Given the description of an element on the screen output the (x, y) to click on. 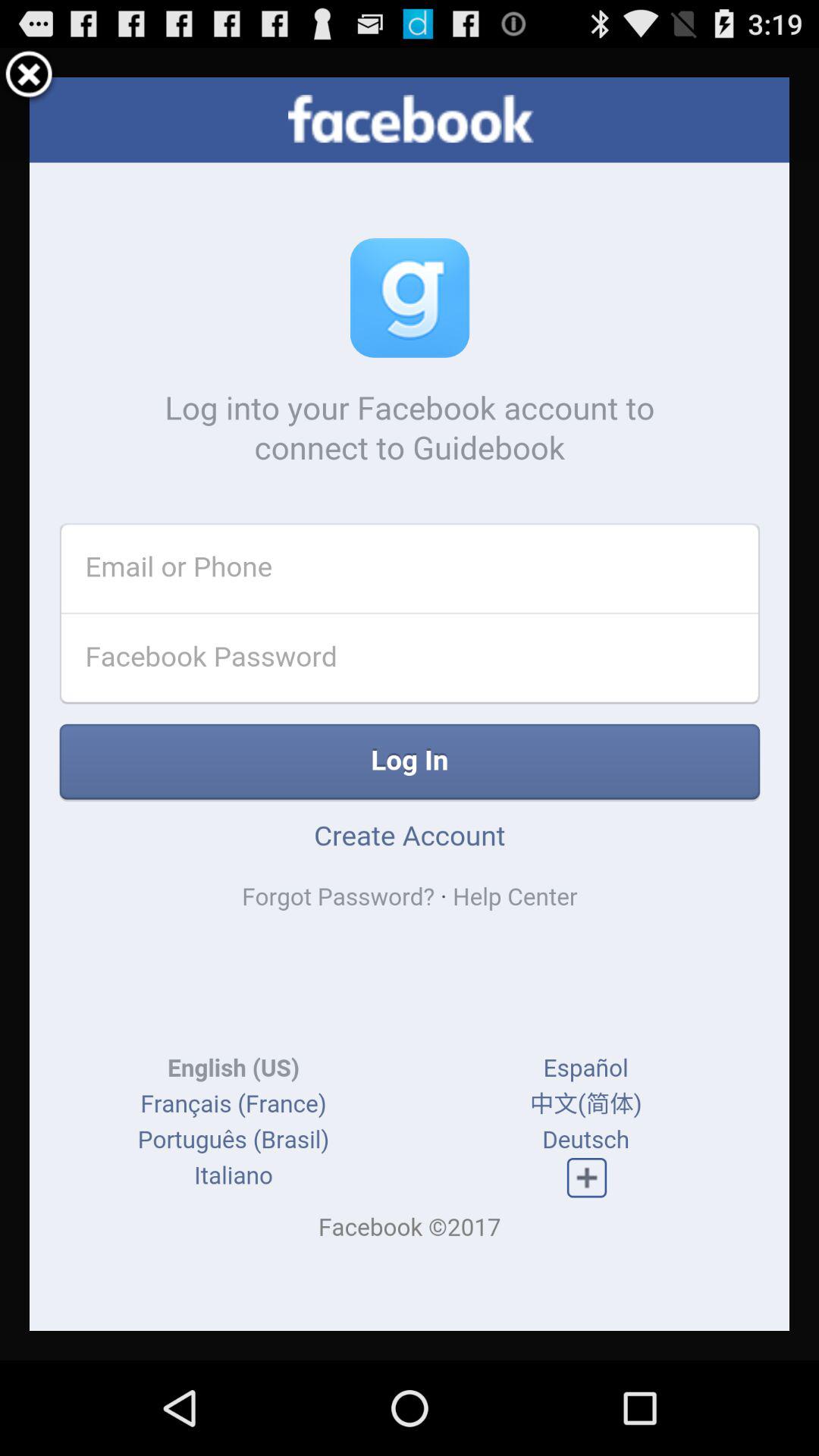
cole (29, 76)
